Given the description of an element on the screen output the (x, y) to click on. 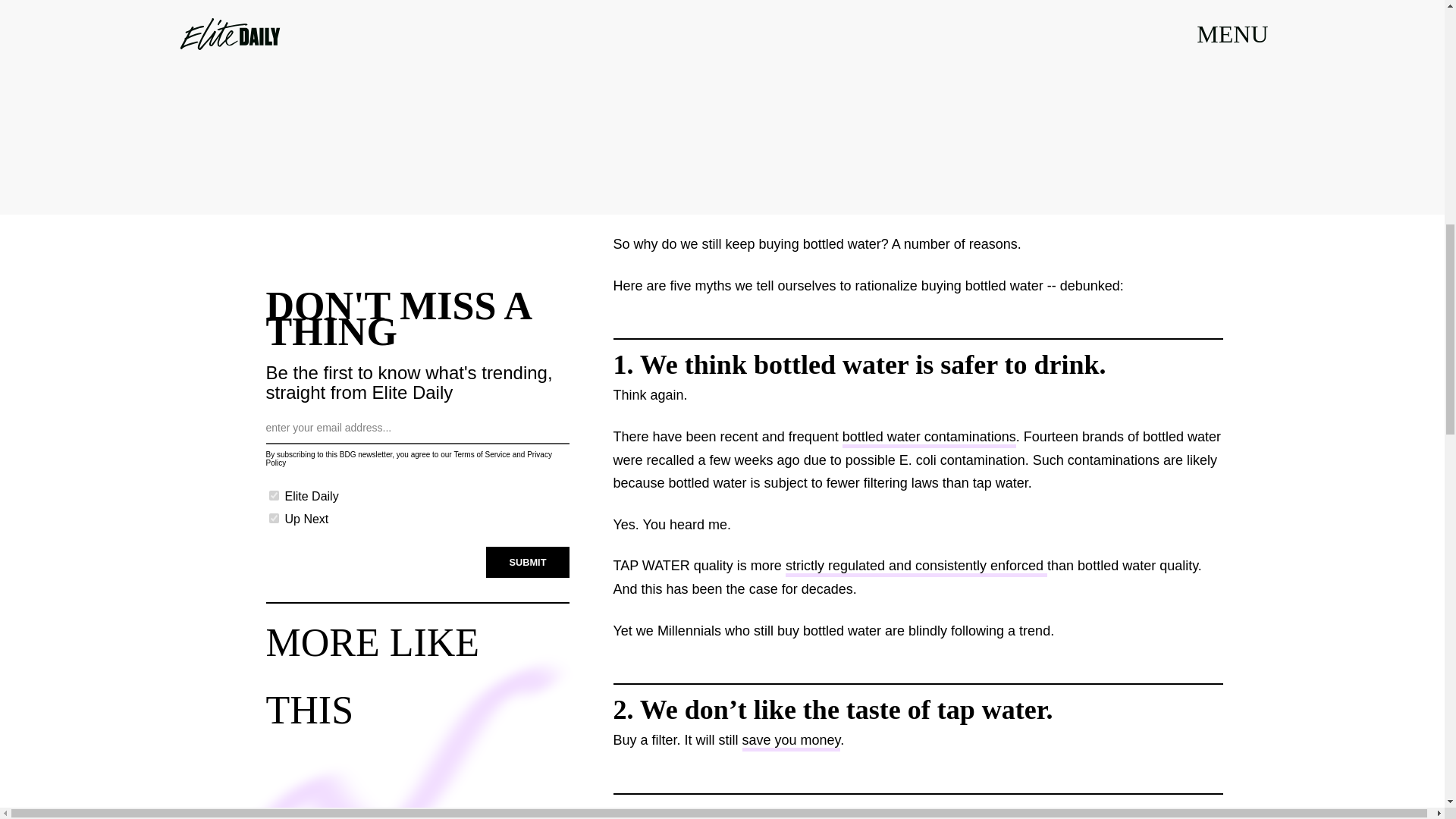
SUBMIT (527, 562)
Privacy Policy (407, 458)
save you money (791, 741)
Terms of Service (480, 454)
bottled water contaminations (929, 438)
strictly regulated and consistently enforced (916, 567)
